Given the description of an element on the screen output the (x, y) to click on. 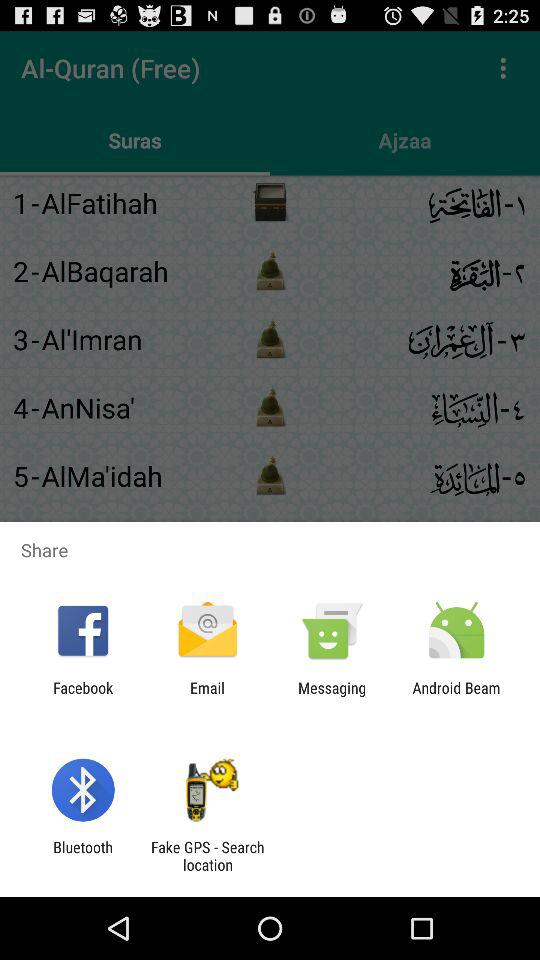
press item next to email (332, 696)
